Given the description of an element on the screen output the (x, y) to click on. 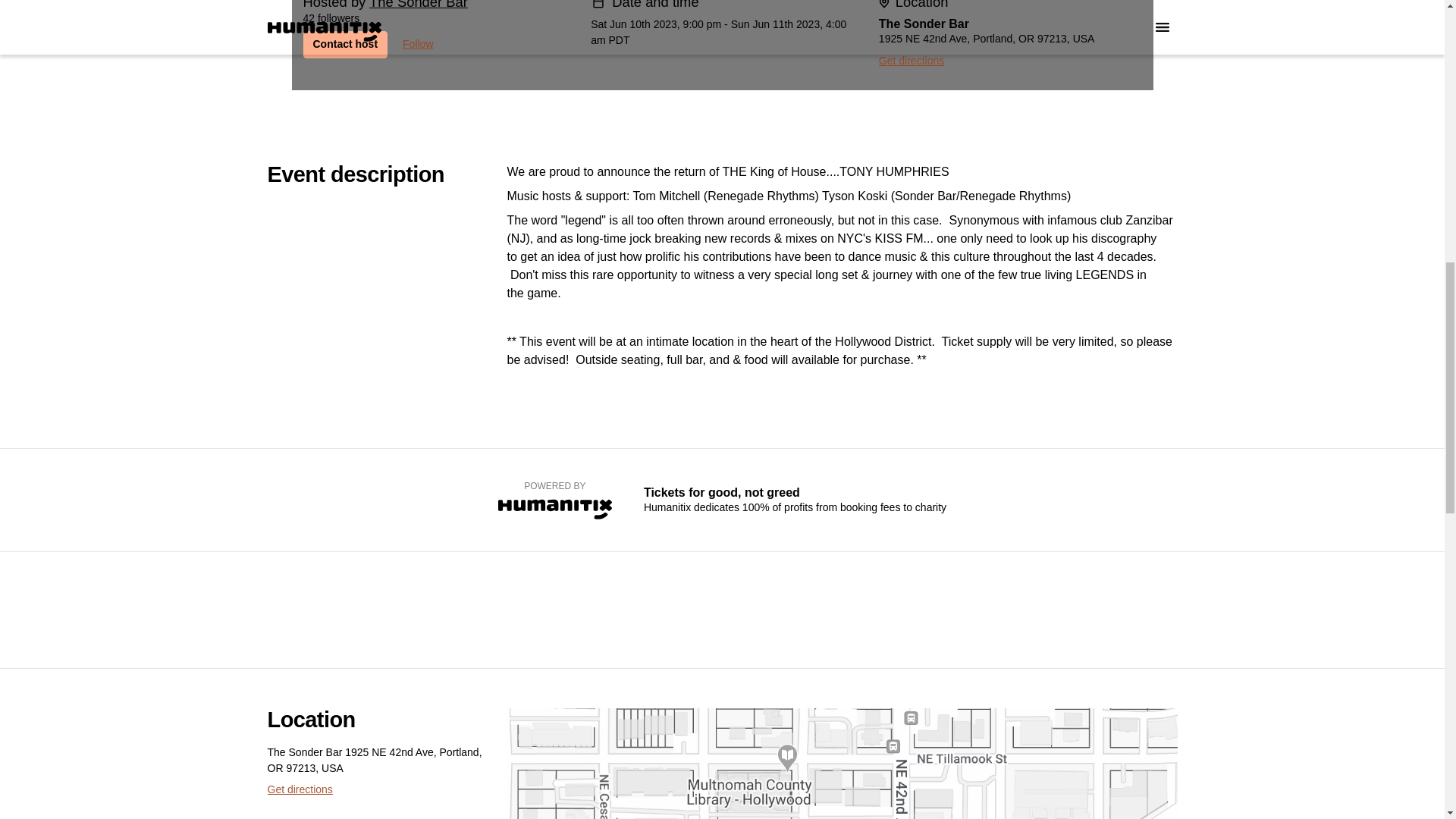
Follow (417, 44)
Get directions (298, 789)
Get directions (911, 60)
The Sonder Bar (418, 4)
